Given the description of an element on the screen output the (x, y) to click on. 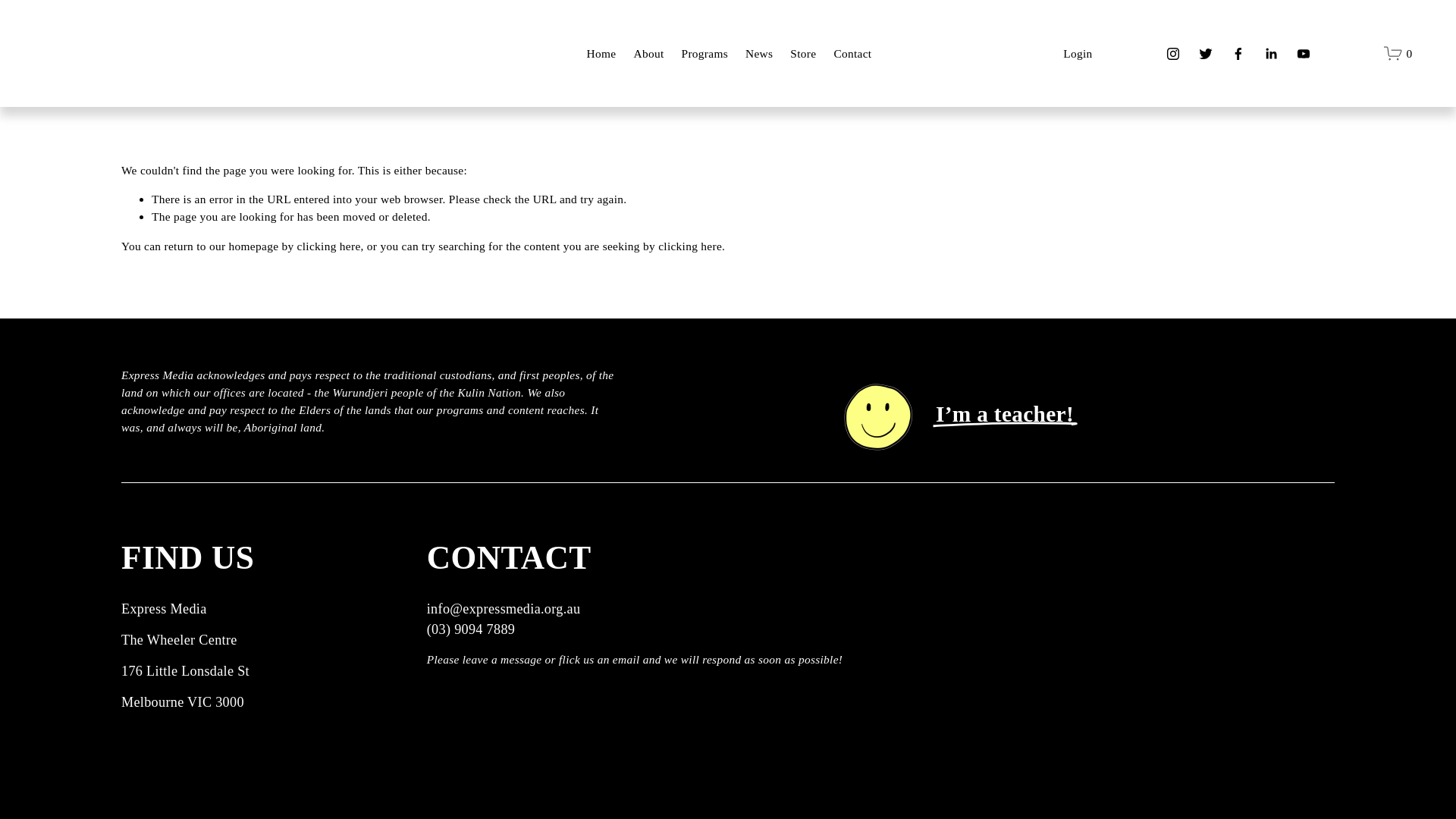
Programs (704, 53)
News (759, 53)
Contact (851, 53)
About (648, 53)
Store (802, 53)
Home (600, 53)
Login (1077, 53)
0 (1398, 53)
